Given the description of an element on the screen output the (x, y) to click on. 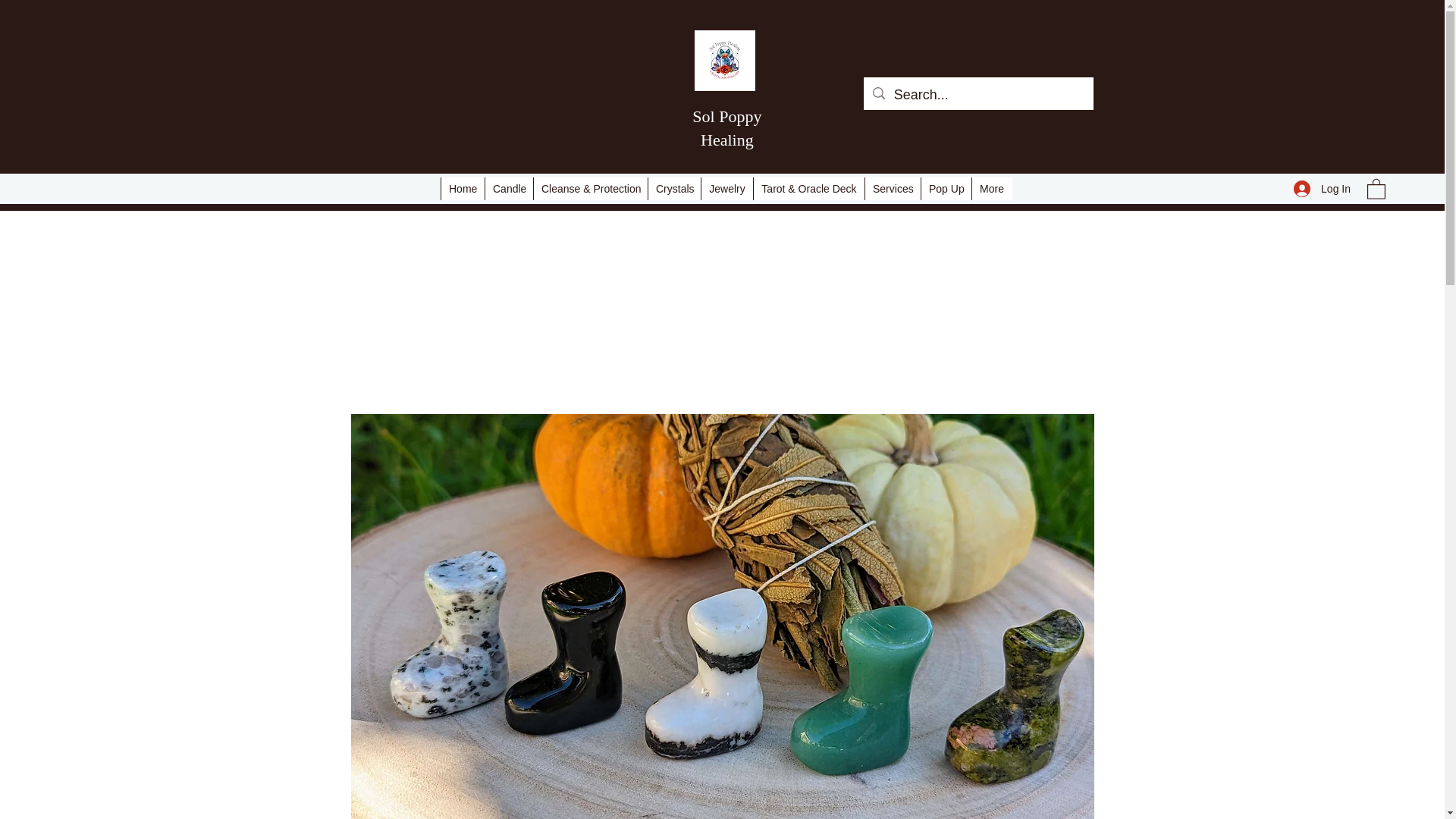
Candle (508, 188)
Sol Poppy Healing (727, 128)
Jewelry (726, 188)
Crystals (673, 188)
Home (462, 188)
